Given the description of an element on the screen output the (x, y) to click on. 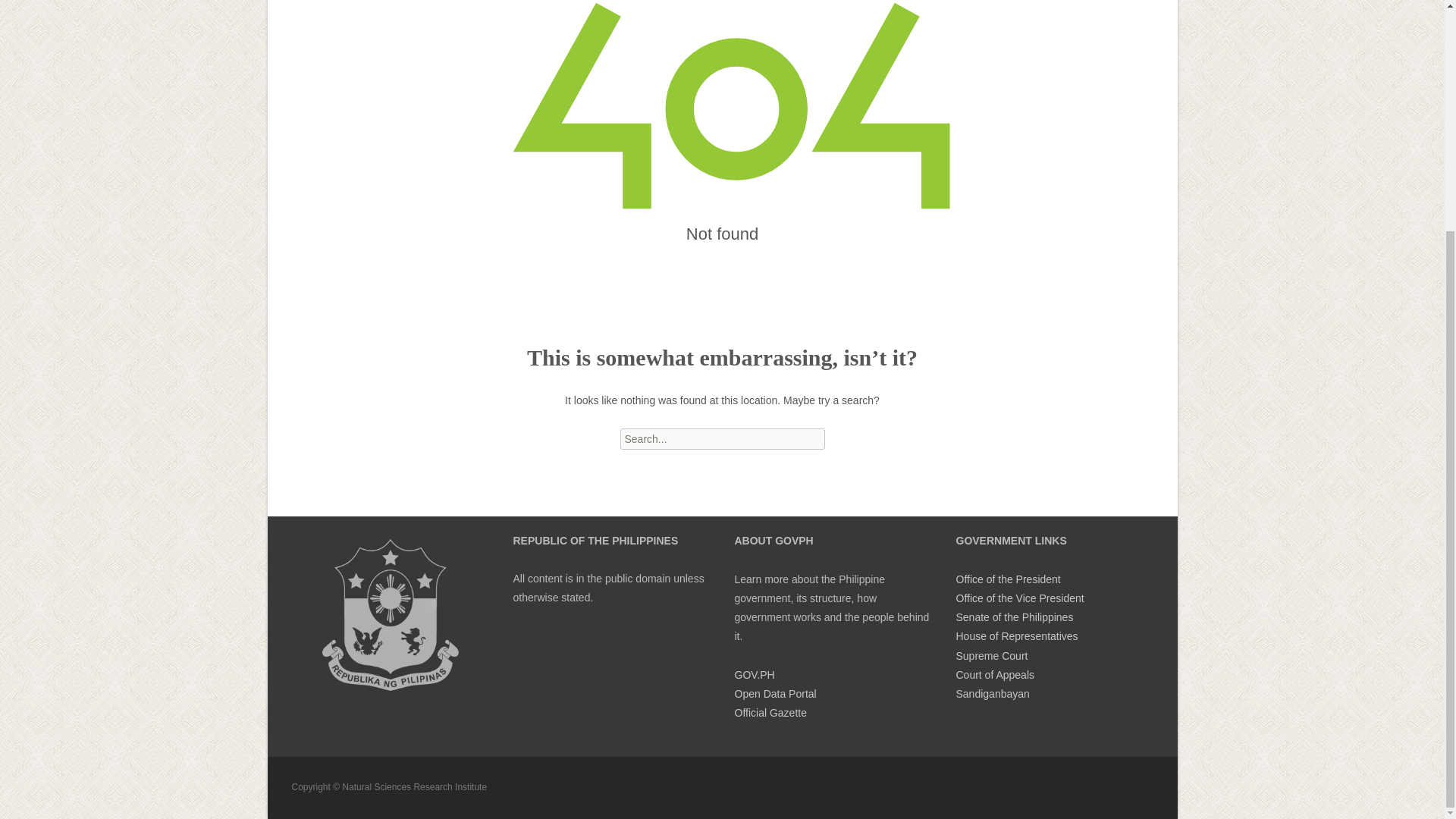
Office of the Vice President (1019, 598)
Search for: (722, 438)
House of Representatives (1016, 635)
Court of Appeals (994, 674)
Senate of the Philippines (1014, 616)
Office of the President (1007, 579)
GOV.PH (753, 674)
Official Gazette (769, 712)
Supreme Court (991, 655)
Sandiganbayan (992, 693)
Open Data Portal (774, 693)
